Given the description of an element on the screen output the (x, y) to click on. 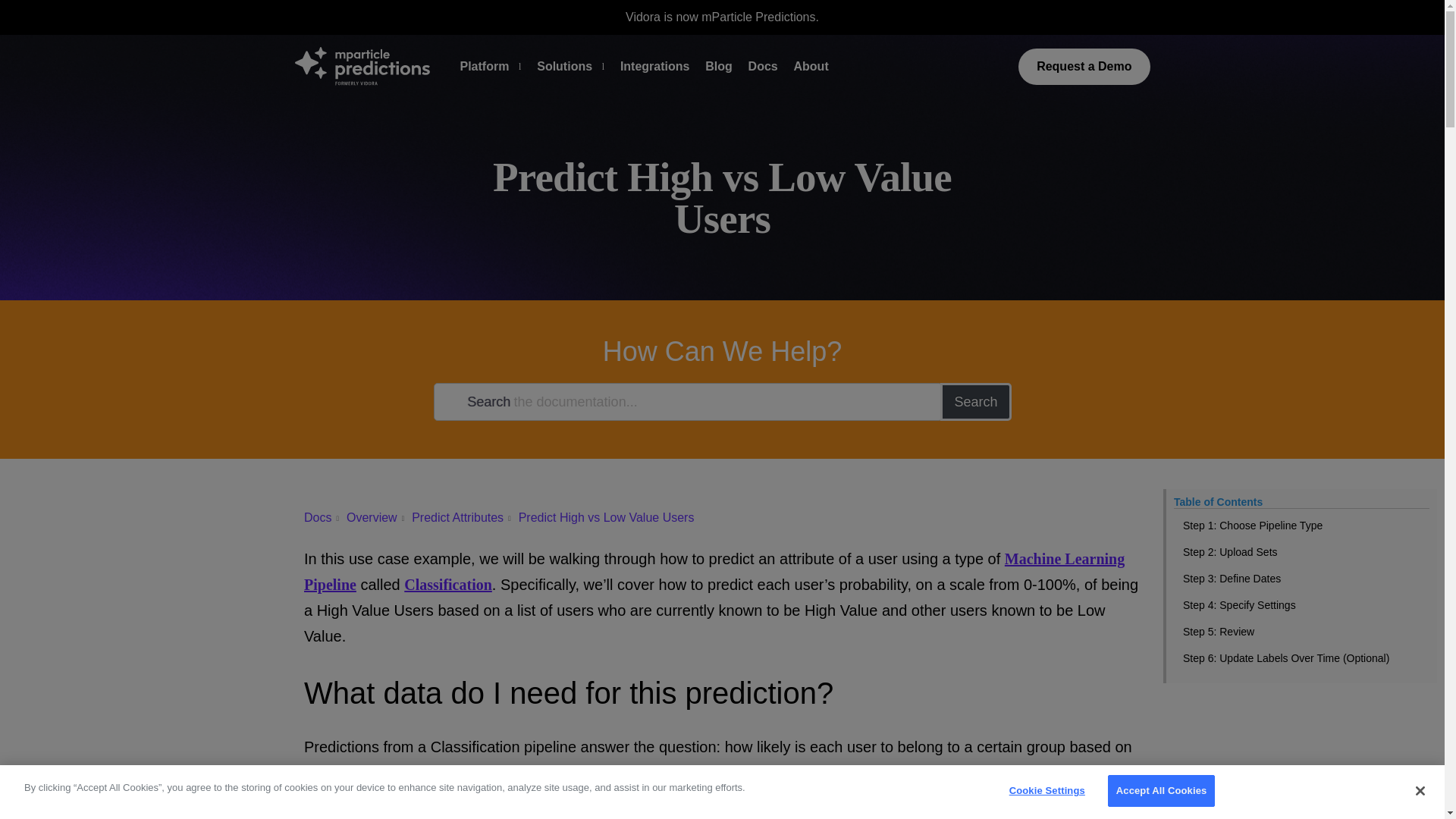
Step 3: Define Dates (1301, 578)
Step 4: Specify Settings (1301, 605)
Platform (484, 66)
Search (975, 401)
mparticle-intelligence-color (361, 64)
About (810, 66)
Step 2: Upload Sets (1301, 551)
Predict Attributes (457, 517)
Overview (371, 517)
Blog (718, 66)
Integrations (655, 66)
Docs (762, 66)
Request a Demo (1083, 66)
mparticle-intelligence-color (361, 65)
Docs (317, 517)
